Given the description of an element on the screen output the (x, y) to click on. 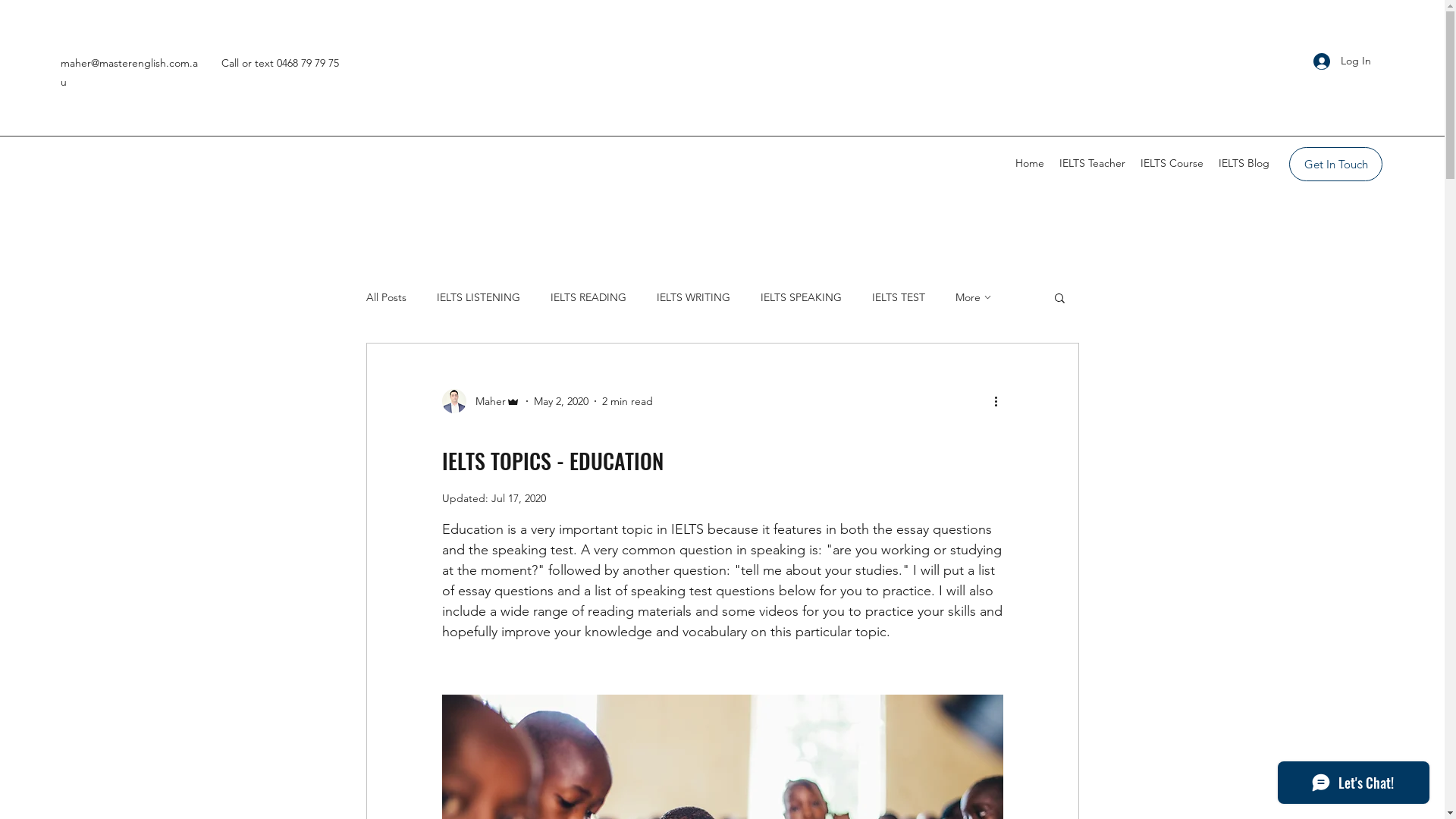
maher@masterenglish.com.au Element type: text (128, 72)
IELTS SPEAKING Element type: text (799, 297)
Log In Element type: text (1341, 61)
IELTS WRITING Element type: text (693, 297)
IELTS READING Element type: text (588, 297)
IELTS TEST Element type: text (898, 297)
IELTS LISTENING Element type: text (478, 297)
Maher Element type: text (480, 401)
IELTS Blog Element type: text (1244, 162)
IELTS Teacher Element type: text (1091, 162)
Home Element type: text (1029, 162)
All Posts Element type: text (385, 297)
IELTS Course Element type: text (1171, 162)
Get In Touch Element type: text (1335, 164)
